Given the description of an element on the screen output the (x, y) to click on. 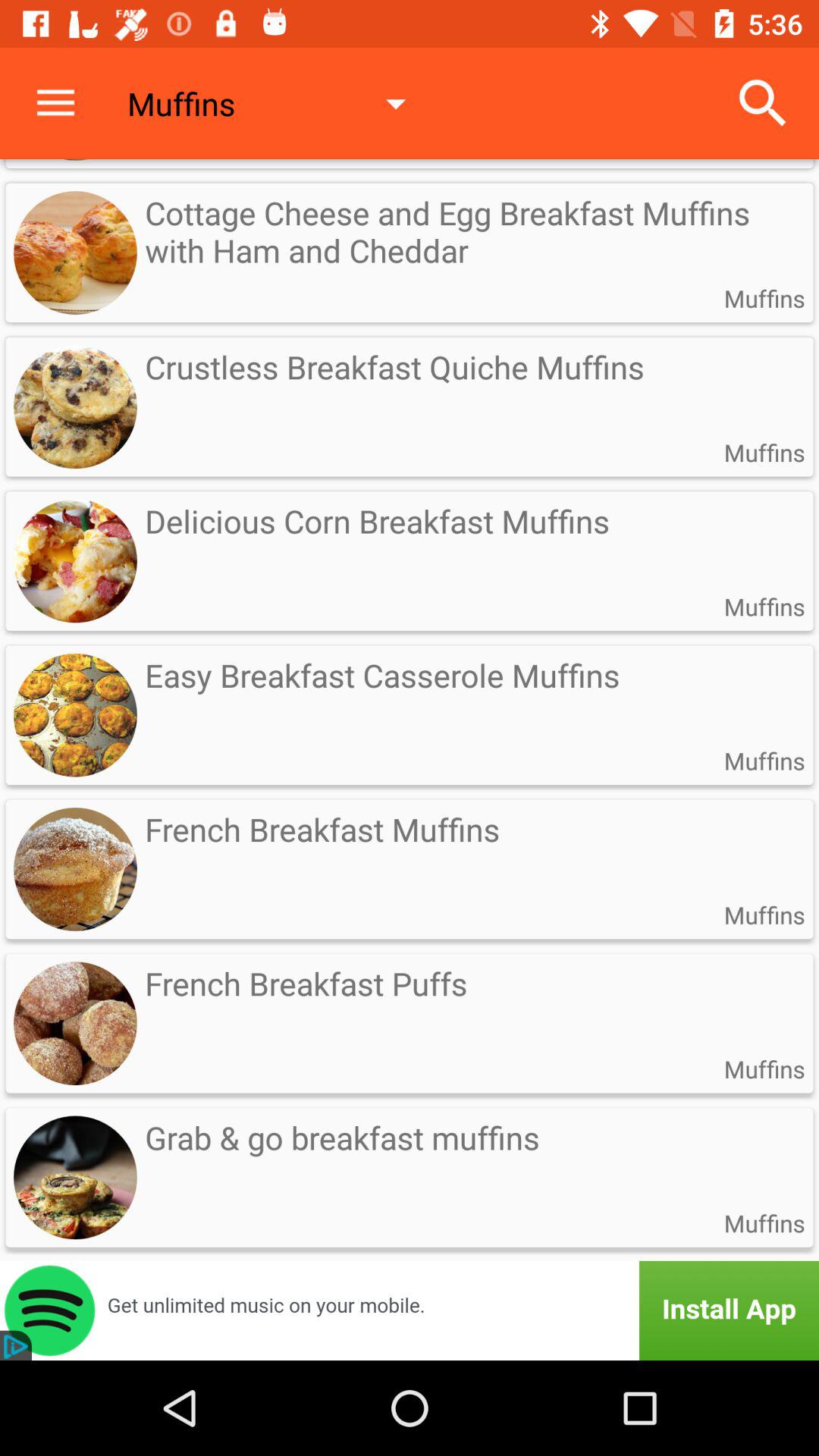
sponsored advertisement (409, 1310)
